Given the description of an element on the screen output the (x, y) to click on. 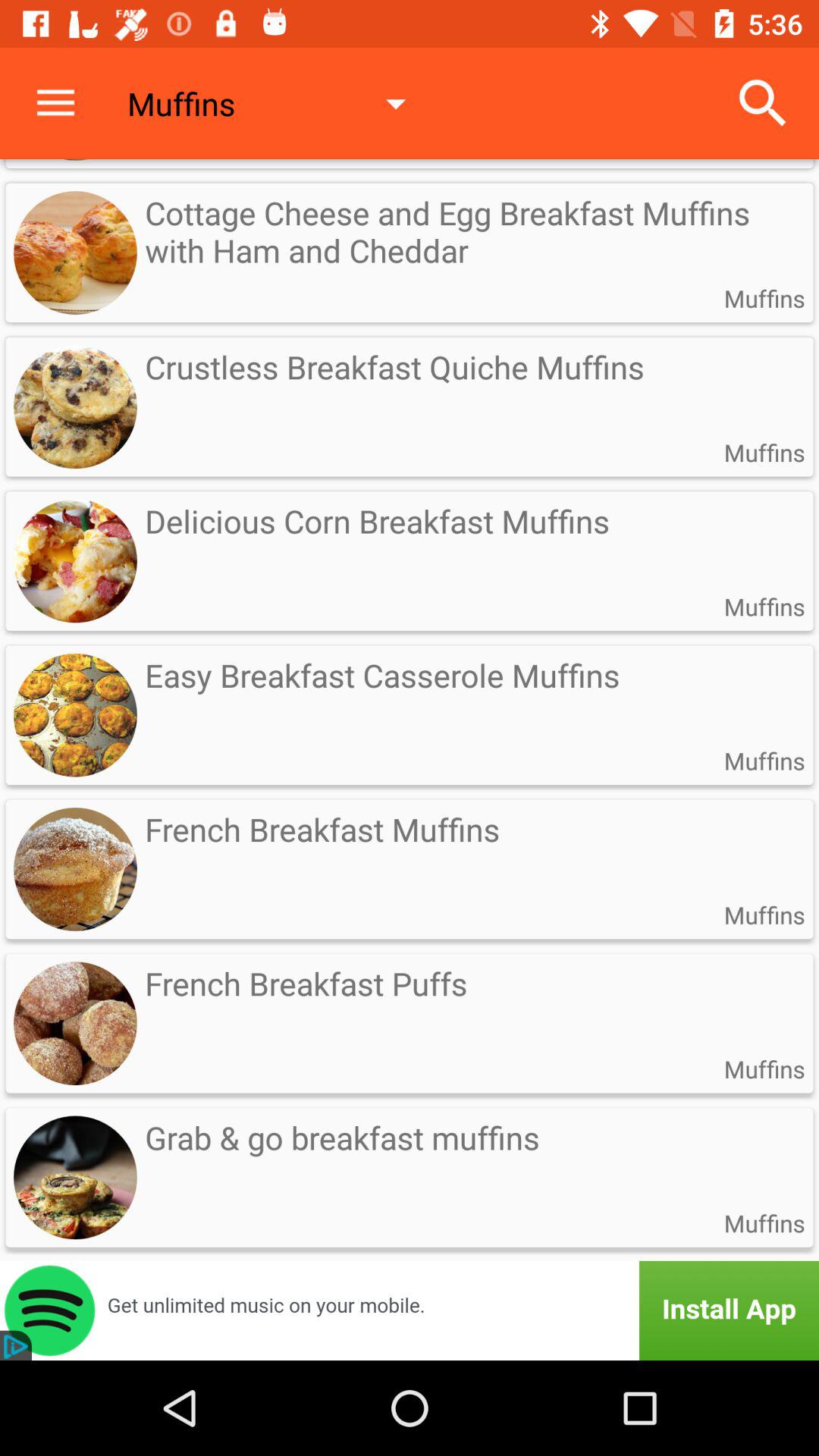
sponsored advertisement (409, 1310)
